Given the description of an element on the screen output the (x, y) to click on. 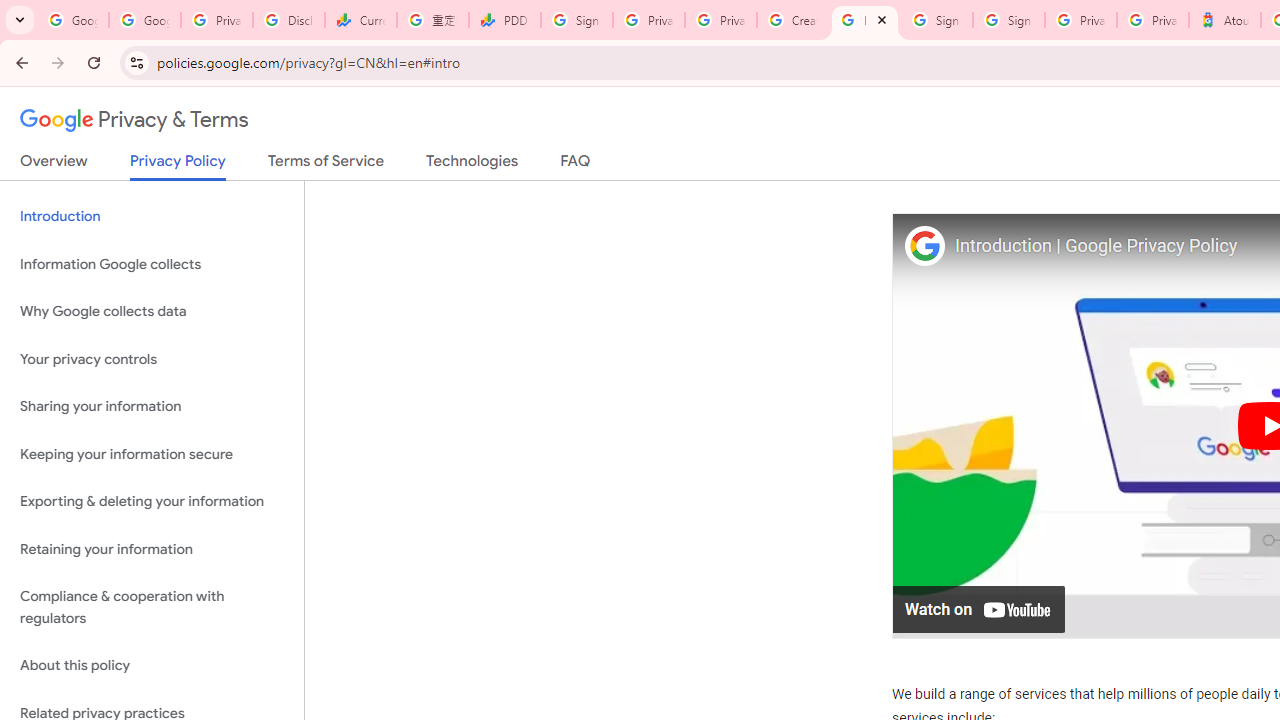
Currencies - Google Finance (360, 20)
Sign in - Google Accounts (1008, 20)
